Given the description of an element on the screen output the (x, y) to click on. 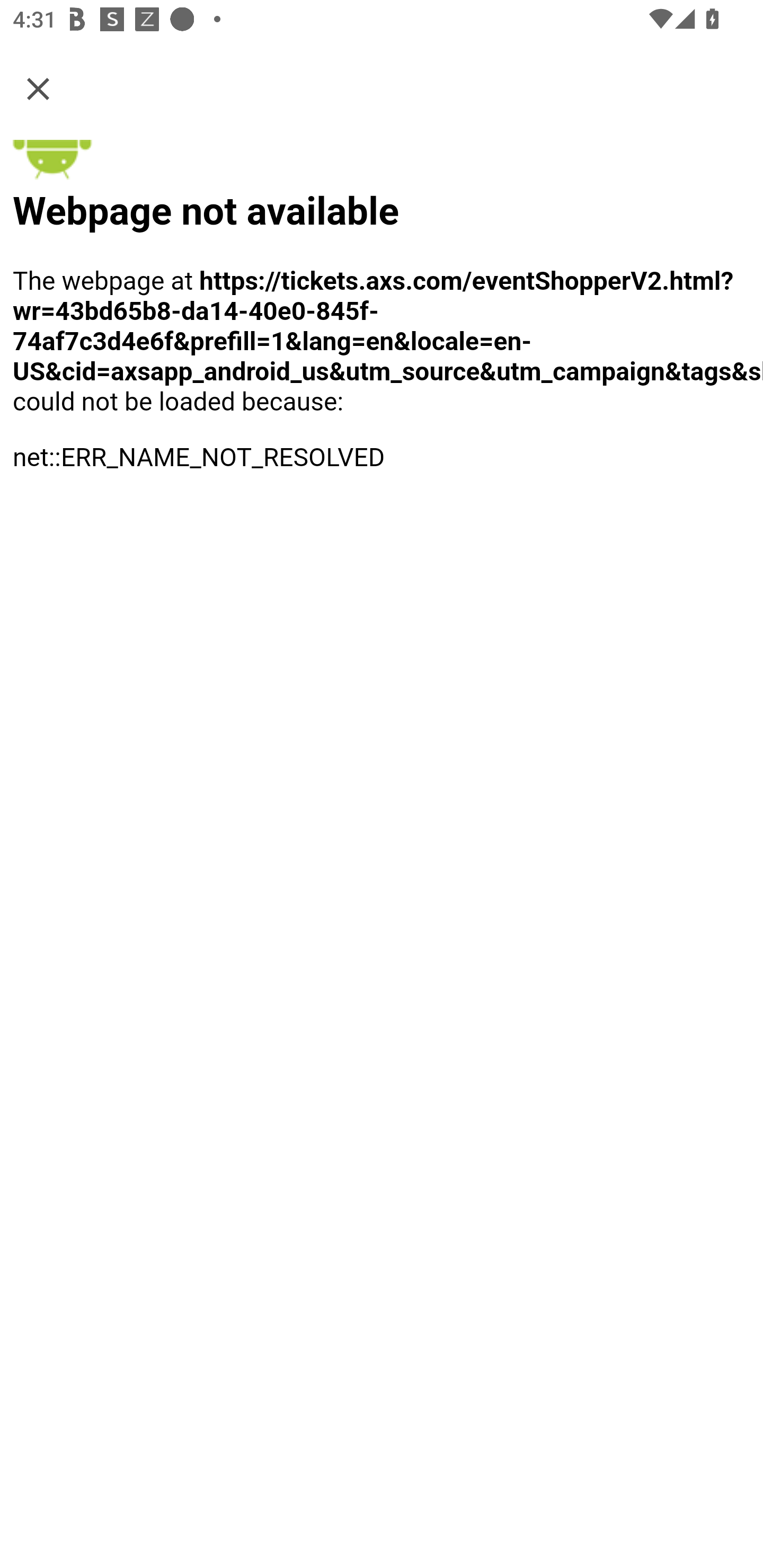
Close (38, 88)
